Given the description of an element on the screen output the (x, y) to click on. 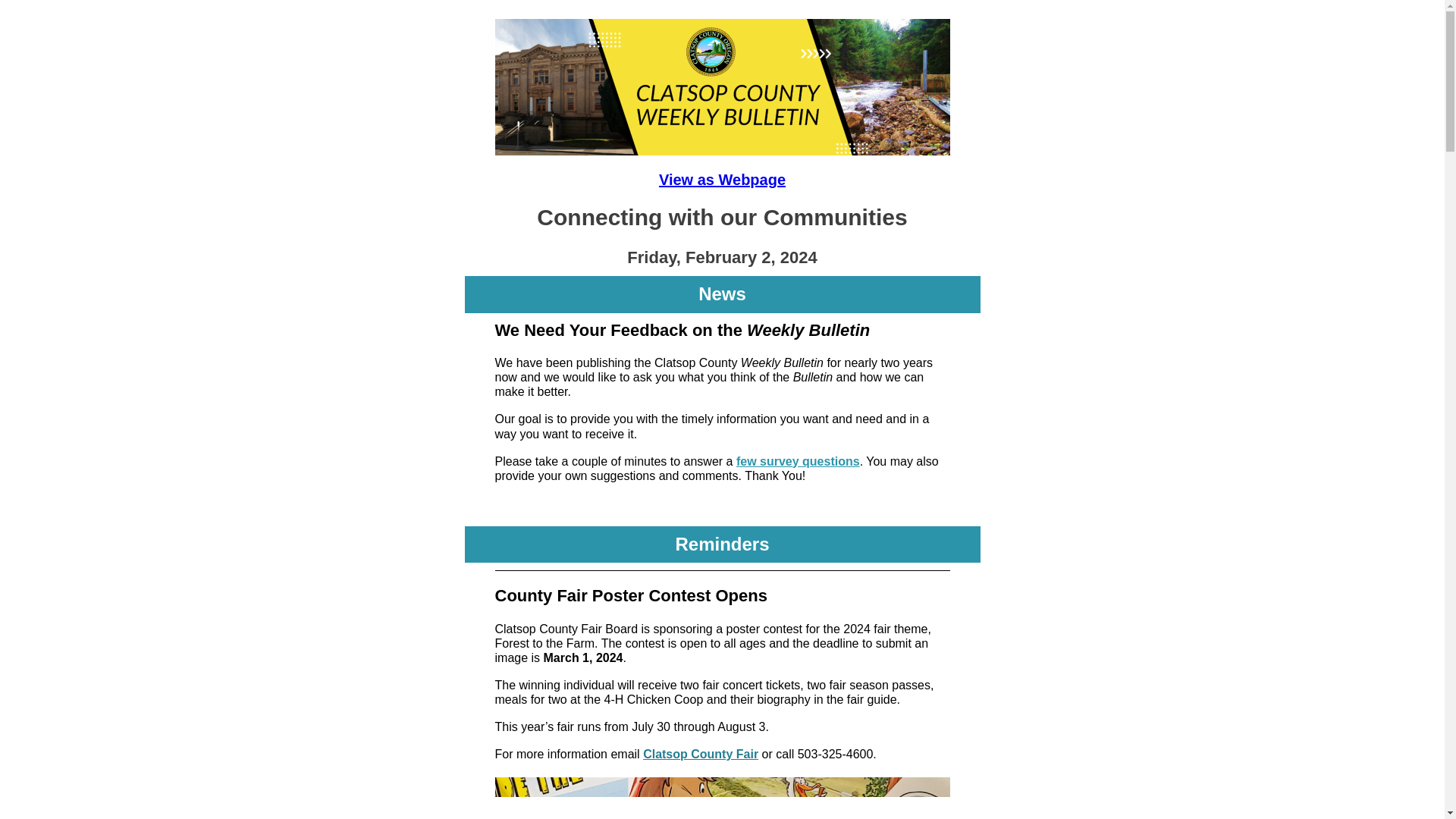
Clatsop County Fair (700, 753)
View as Webpage (722, 179)
few survey questions (798, 461)
